Given the description of an element on the screen output the (x, y) to click on. 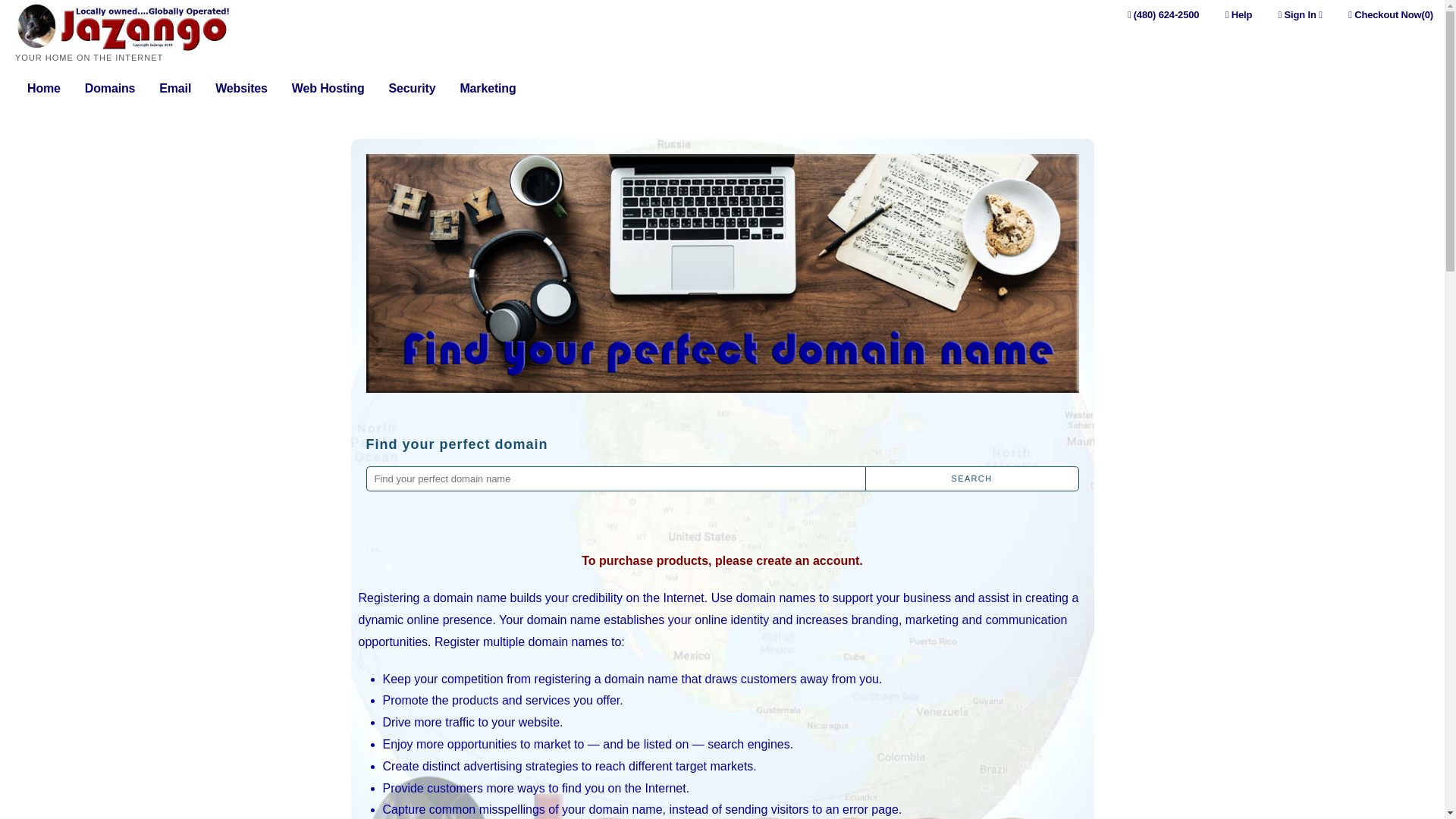
Marketing (487, 89)
Search (971, 478)
Home (44, 89)
Email (174, 89)
Help (1238, 14)
Sign In (1300, 14)
Domains (109, 89)
Security (411, 89)
Search (971, 478)
Web Hosting (328, 89)
Websites (241, 89)
